Given the description of an element on the screen output the (x, y) to click on. 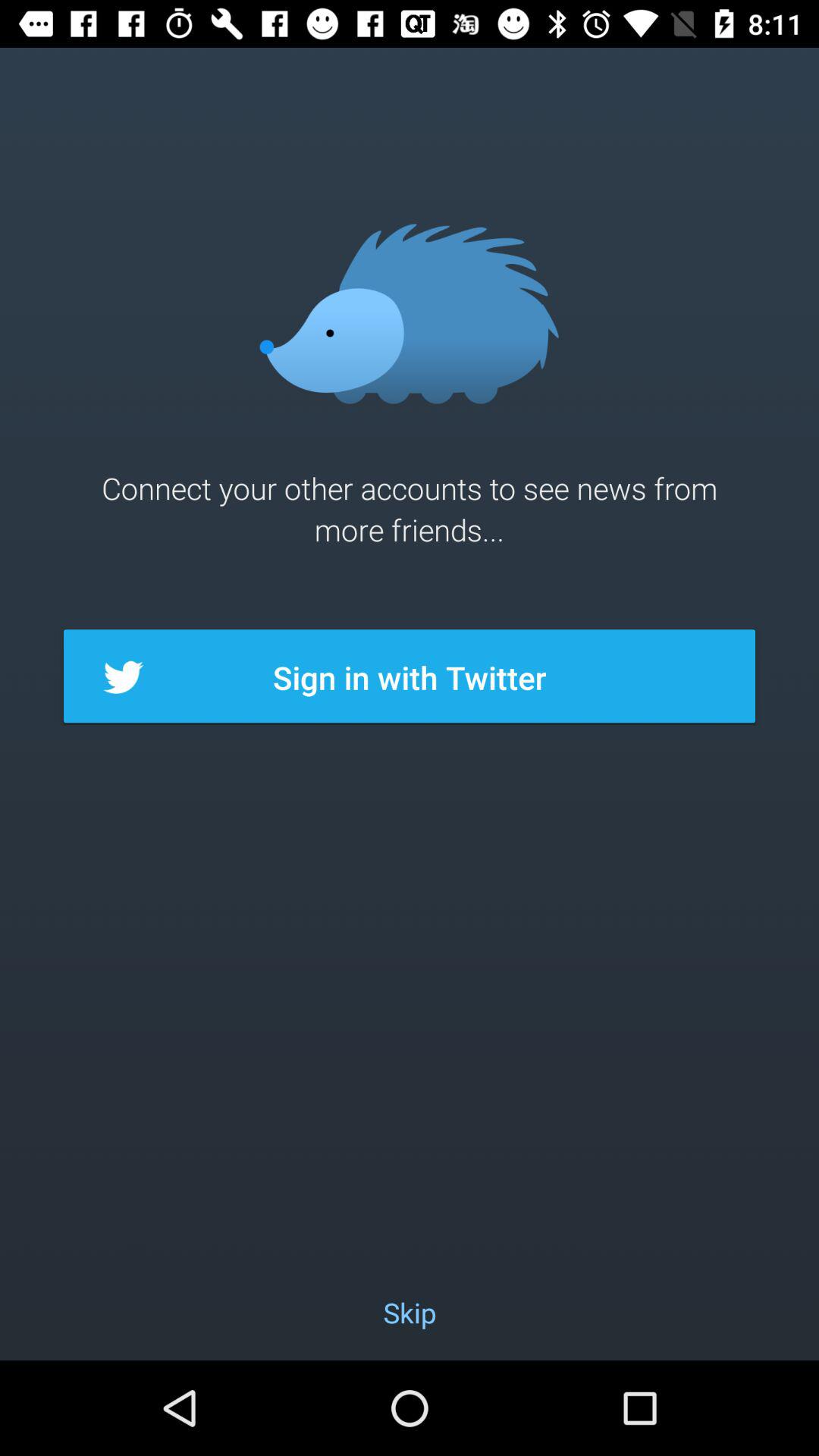
scroll to the sign in with (409, 677)
